Given the description of an element on the screen output the (x, y) to click on. 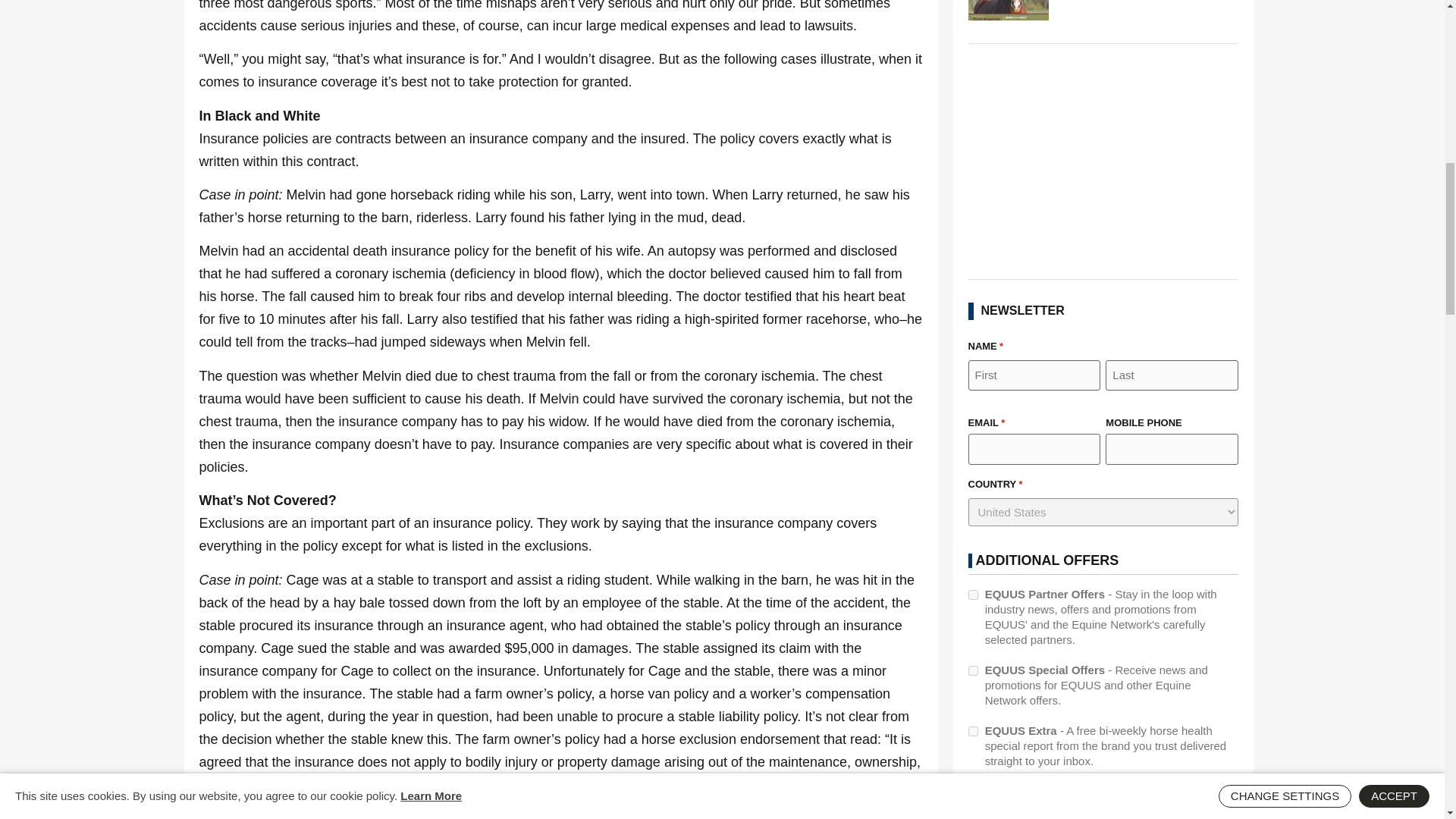
52f26a8f-e5be-4237-a9cb-227d8912a511 (972, 594)
0cd2e389-c43e-4146-b3bb-59ab437fd8f4 (972, 731)
3rd party ad content (1103, 161)
SMS Notifications (972, 791)
591f5baa-e9c3-40bf-bf02-f5923680caa3 (972, 670)
